Given the description of an element on the screen output the (x, y) to click on. 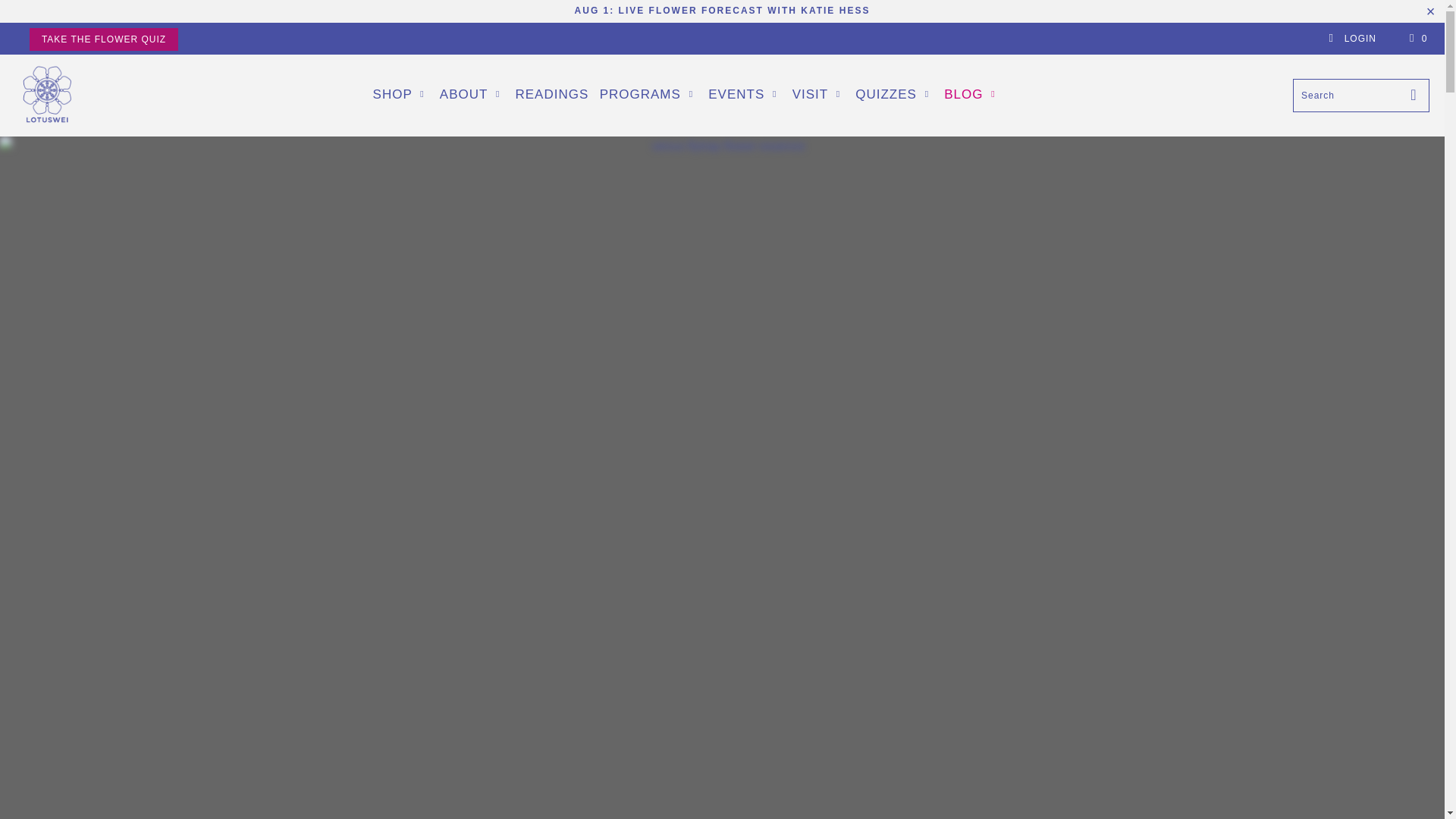
My Account  (1351, 38)
LOTUSWEI (47, 95)
